Given the description of an element on the screen output the (x, y) to click on. 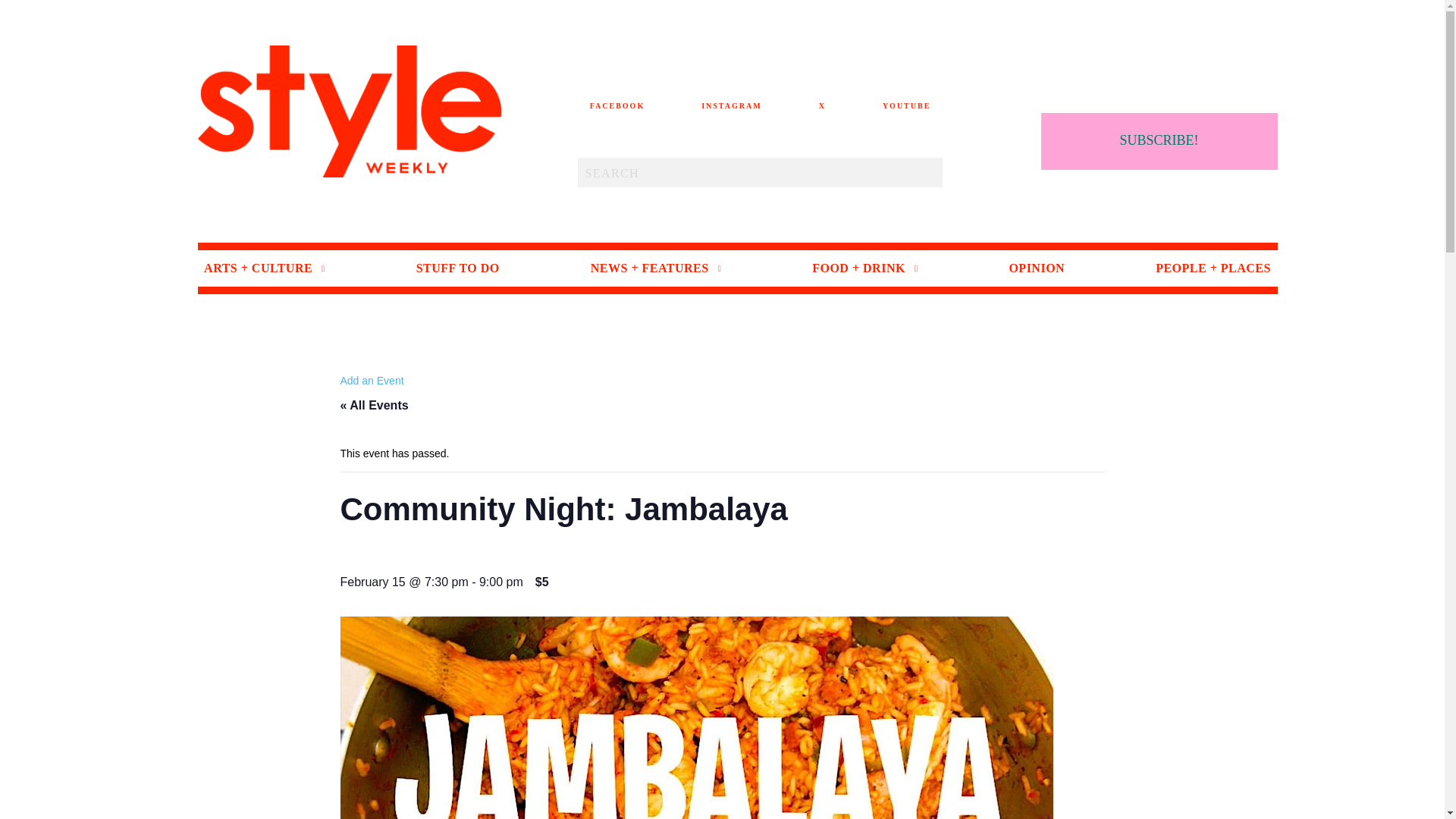
SUBSCRIBE! (1158, 141)
